Given the description of an element on the screen output the (x, y) to click on. 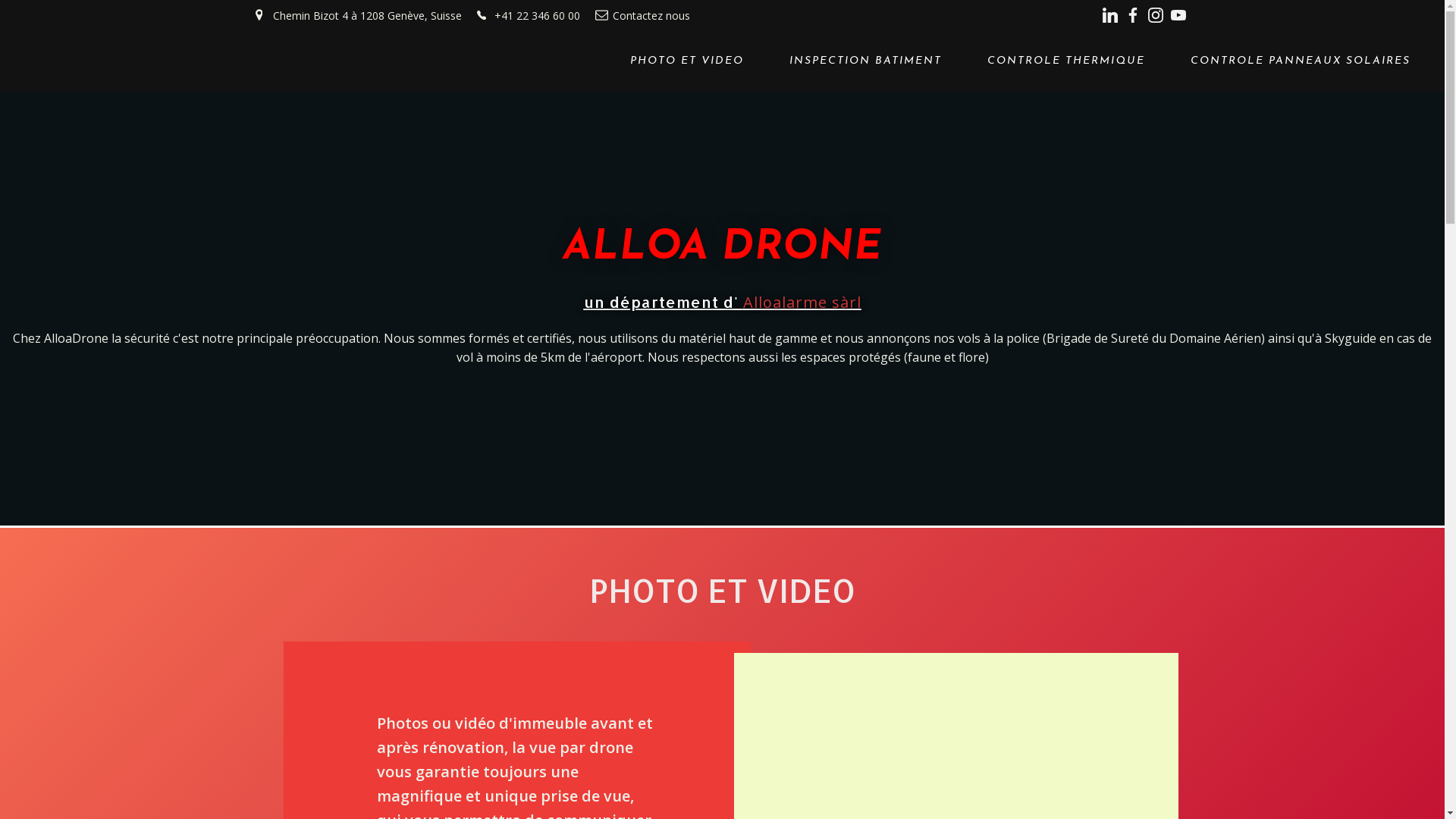
+41 22 346 60 00 Element type: text (527, 14)
INSPECTION BATIMENT Element type: text (865, 61)
CONTROLE PANNEAUX SOLAIRES Element type: text (1300, 61)
CONTROLE THERMIQUE Element type: text (1066, 61)
PHOTO ET VIDEO Element type: text (686, 61)
Contactez nous Element type: text (641, 14)
